Given the description of an element on the screen output the (x, y) to click on. 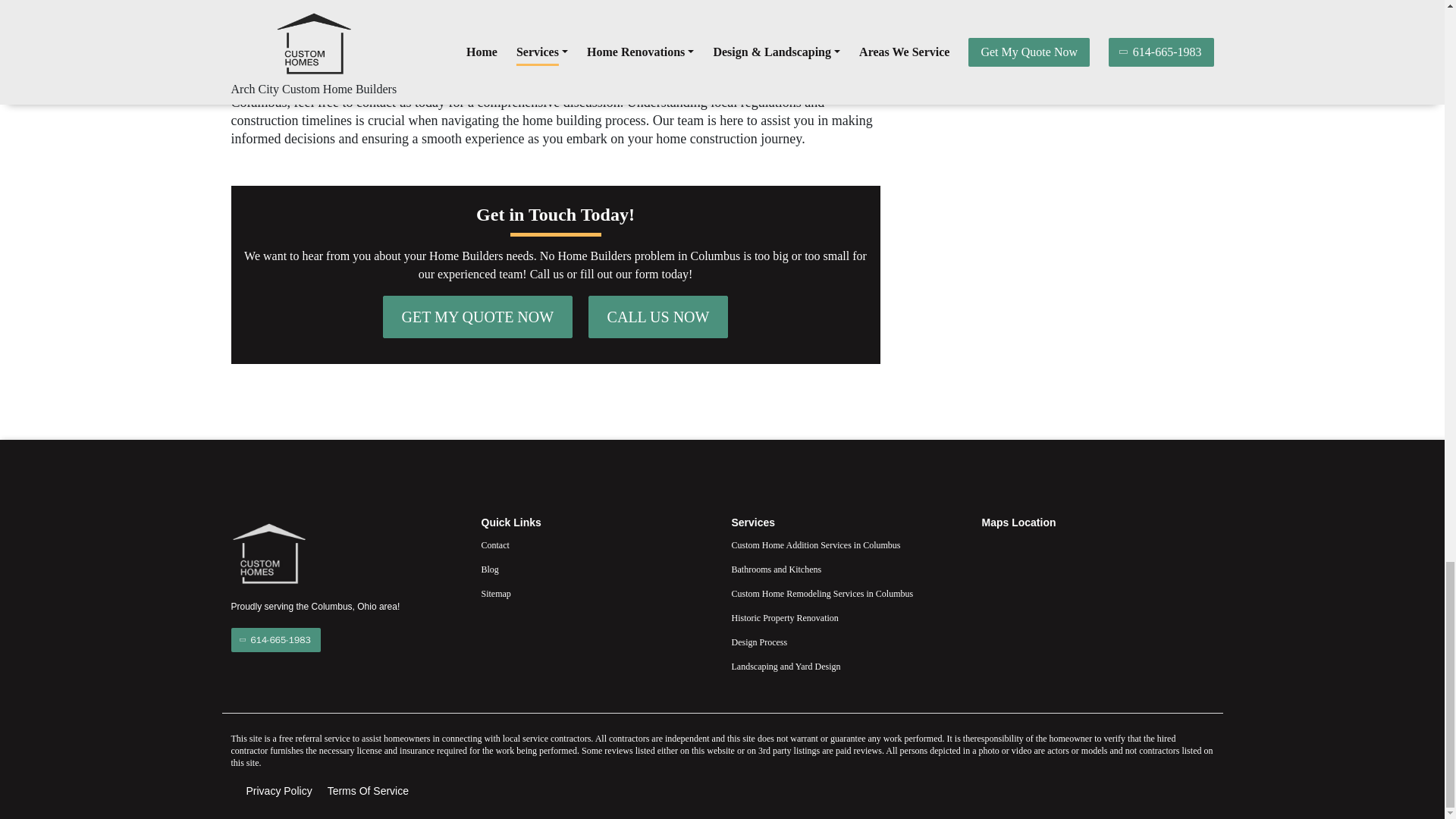
CALL US NOW (658, 316)
GET MY QUOTE NOW (477, 316)
